Given the description of an element on the screen output the (x, y) to click on. 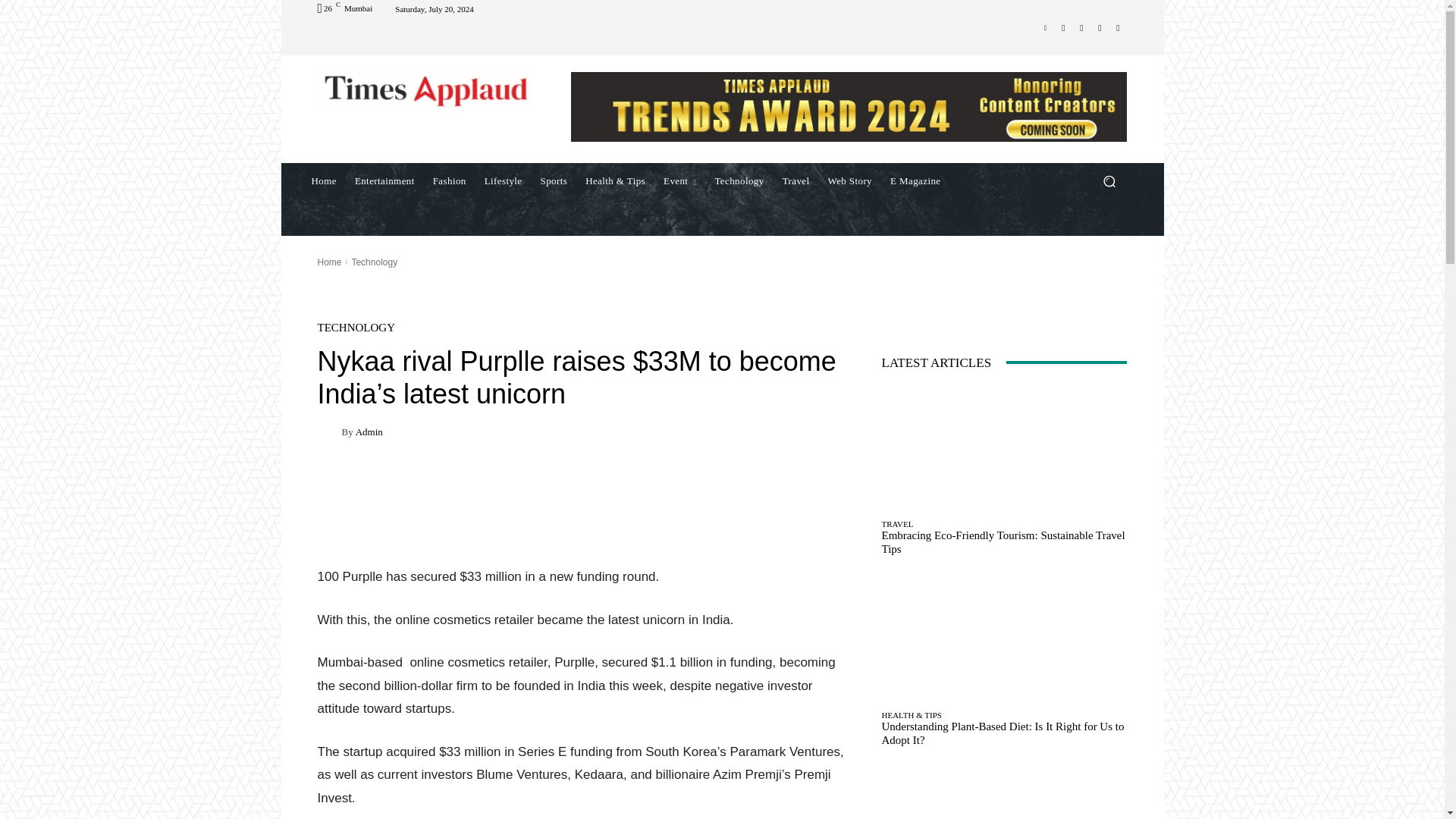
Fashion (449, 180)
Entertainment (384, 180)
Web Story (850, 180)
Sports (553, 180)
Youtube (1117, 27)
Event (678, 180)
TImes Applaud Logo (425, 90)
Home (323, 180)
Technology (738, 180)
Instagram (1080, 27)
Blogger (1044, 27)
Facebook (1062, 27)
Travel (795, 180)
WhatsApp (1099, 27)
Lifestyle (503, 180)
